Given the description of an element on the screen output the (x, y) to click on. 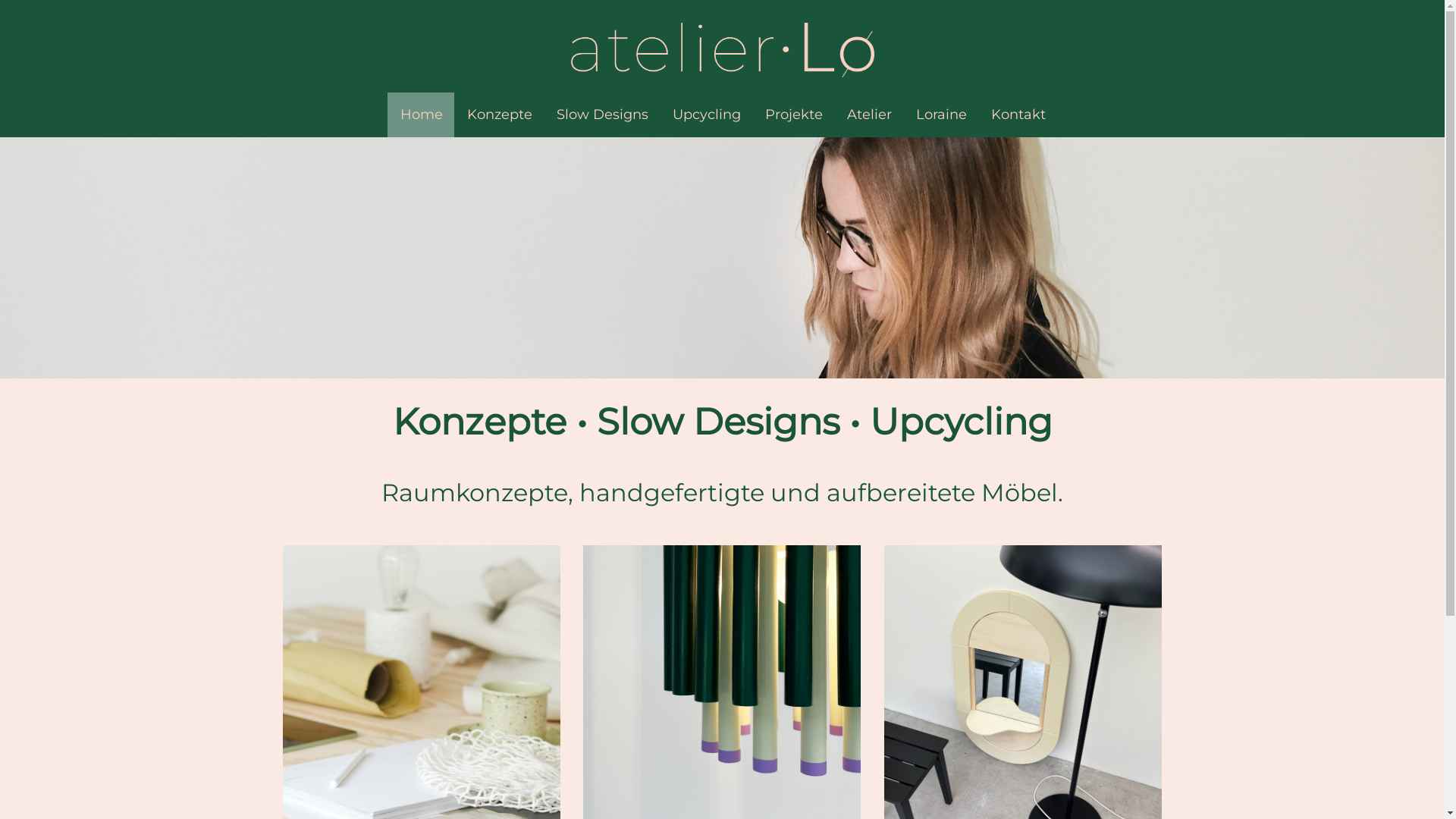
Slow Designs Element type: text (602, 114)
Konzepte Element type: text (499, 114)
Upcycling Element type: text (706, 114)
Projekte Element type: text (793, 114)
Home Element type: text (421, 114)
Loraine Element type: text (941, 114)
Kontakt Element type: text (1018, 114)
Atelier Element type: text (869, 114)
